Given the description of an element on the screen output the (x, y) to click on. 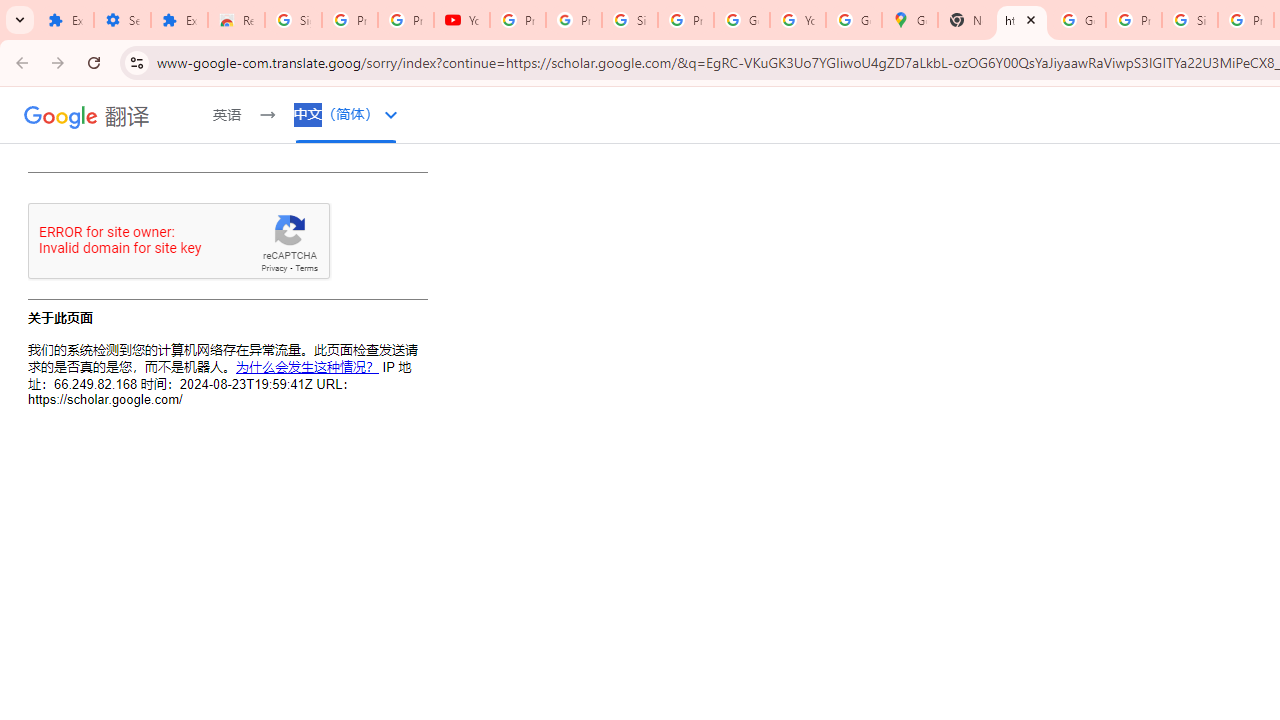
Sign in - Google Accounts (629, 20)
Extensions (65, 20)
YouTube (461, 20)
Sign in - Google Accounts (1190, 20)
